Given the description of an element on the screen output the (x, y) to click on. 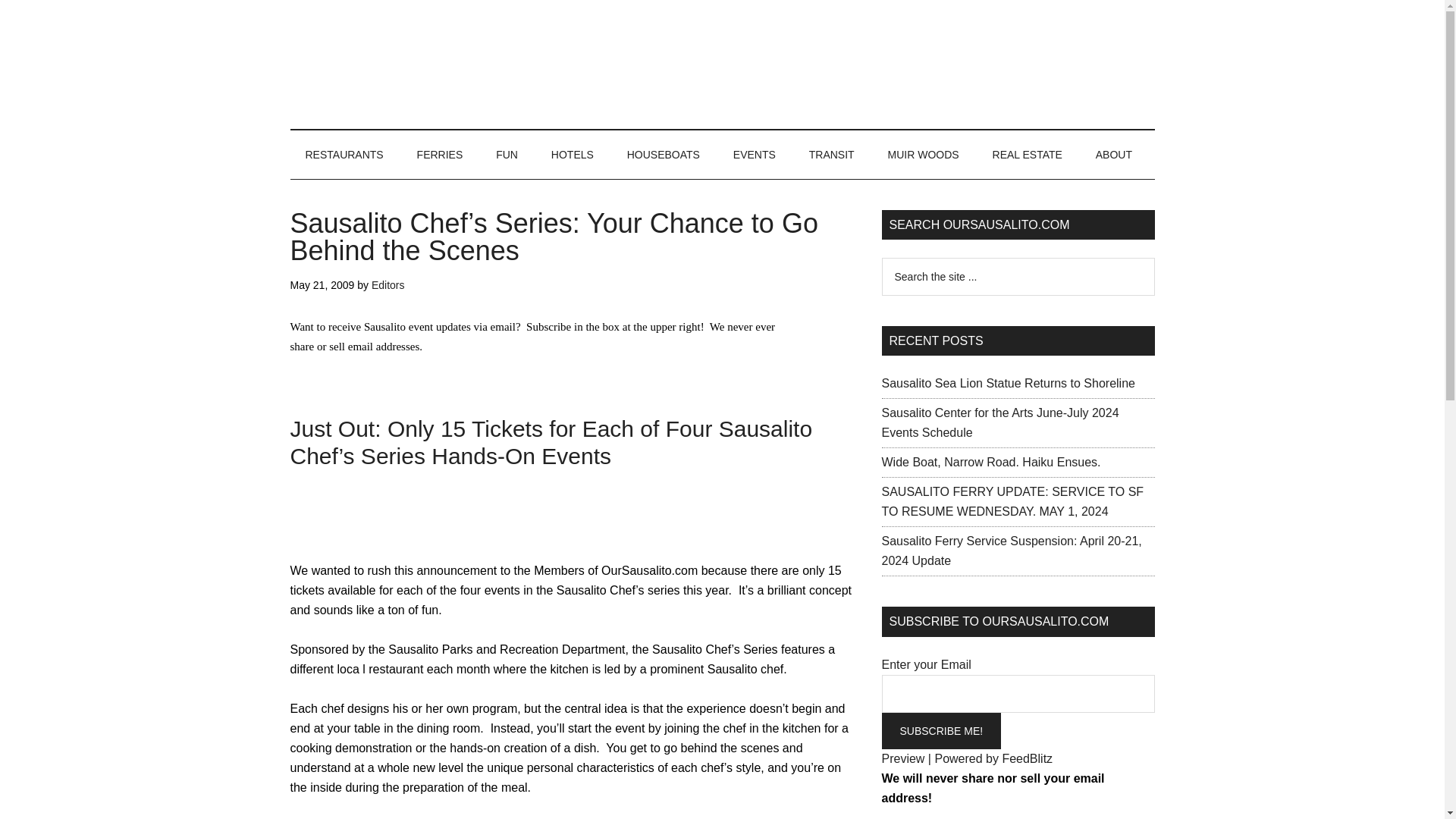
OurSausalito.com (721, 64)
EVENTS (753, 154)
RESTAURANTS (343, 154)
Fun Things to Do in Sausalito 2015 (506, 154)
HOTELS (571, 154)
HOUSEBOATS (662, 154)
Best Sausalito Restaurants 2015 (343, 154)
FUN (506, 154)
FERRIES (440, 154)
Sausalito Ferry Guide 2015 (440, 154)
Subscribe me! (940, 730)
